Given the description of an element on the screen output the (x, y) to click on. 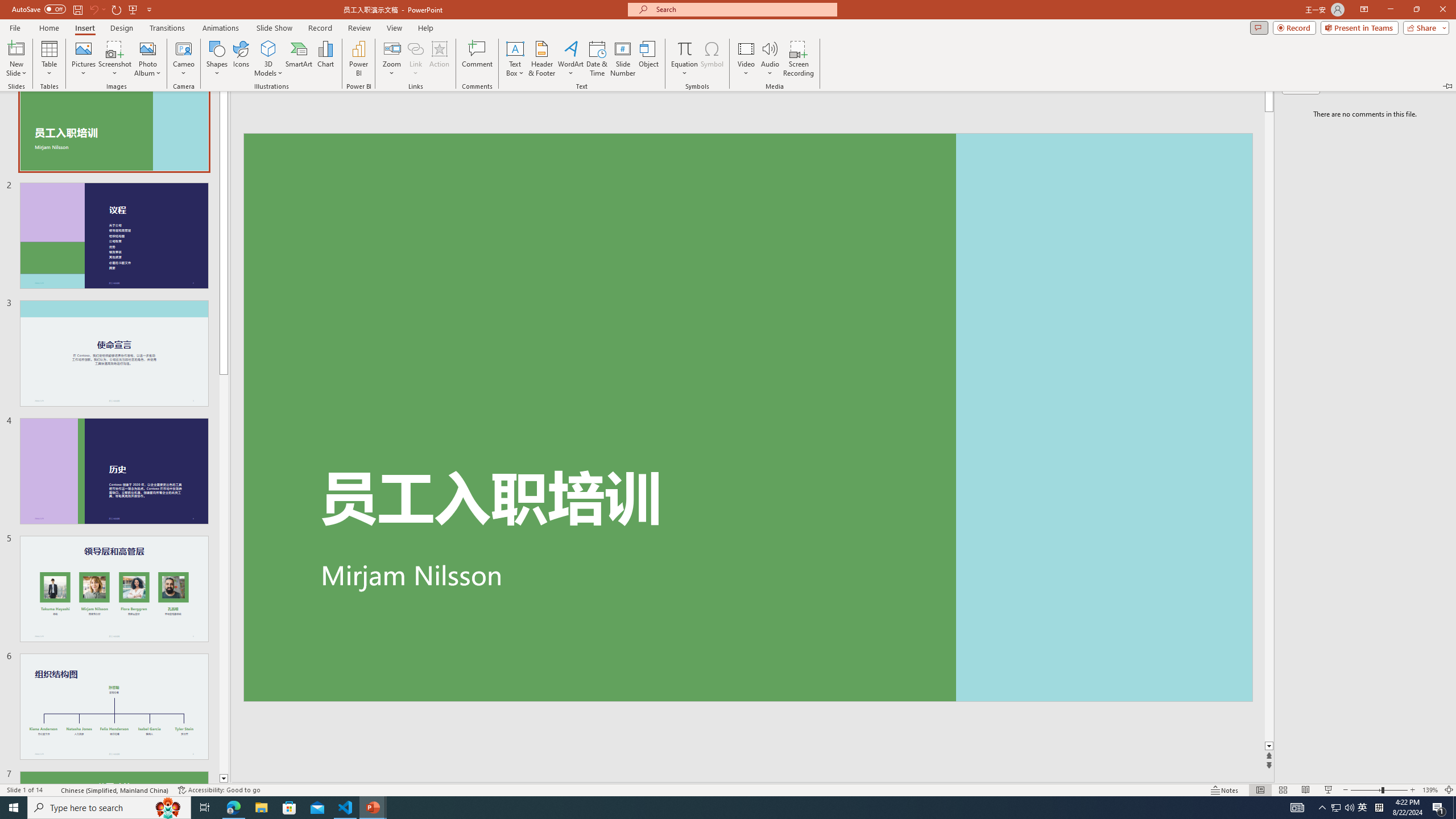
Help (575, 47)
Character Border (374, 77)
Italic (120, 102)
Shading (565, 102)
Font... (383, 128)
Cut (63, 72)
Align Left (407, 102)
Text Highlight Color (288, 102)
Text Highlight Color Yellow (282, 102)
Asian Layout (568, 77)
Enclose Characters... (374, 102)
Clear Formatting (328, 77)
